Given the description of an element on the screen output the (x, y) to click on. 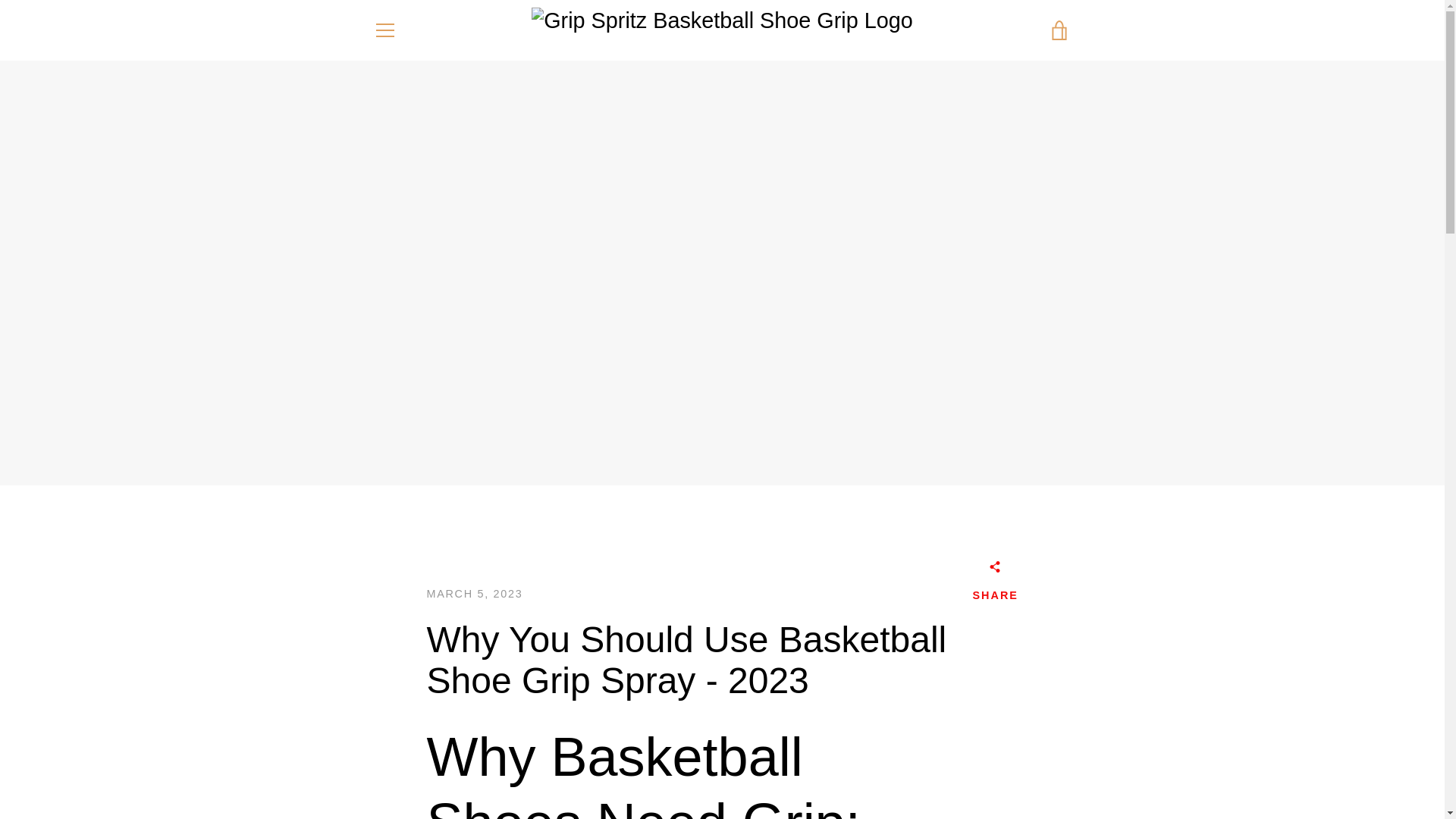
MENU (384, 30)
VIEW CART (1059, 30)
SHARE (994, 584)
